Given the description of an element on the screen output the (x, y) to click on. 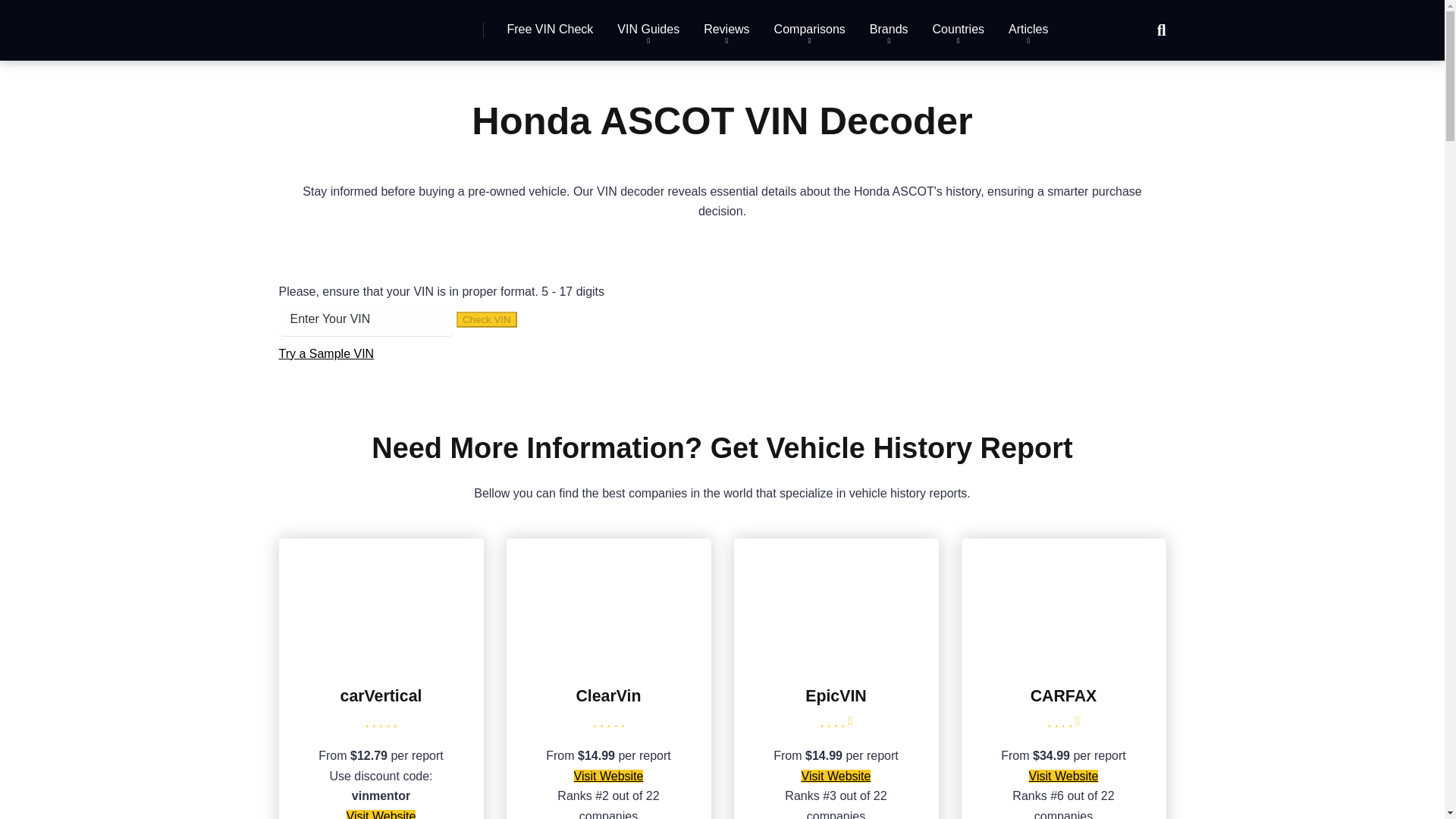
VIN Mentor (346, 24)
Countries (957, 30)
Visit Website (836, 775)
Visit Website (1064, 775)
Free VIN Check (550, 30)
EpicVIN (835, 658)
ClearVin (607, 658)
Reviews (726, 30)
ClearVin (607, 696)
EpicVIN (835, 696)
